Given the description of an element on the screen output the (x, y) to click on. 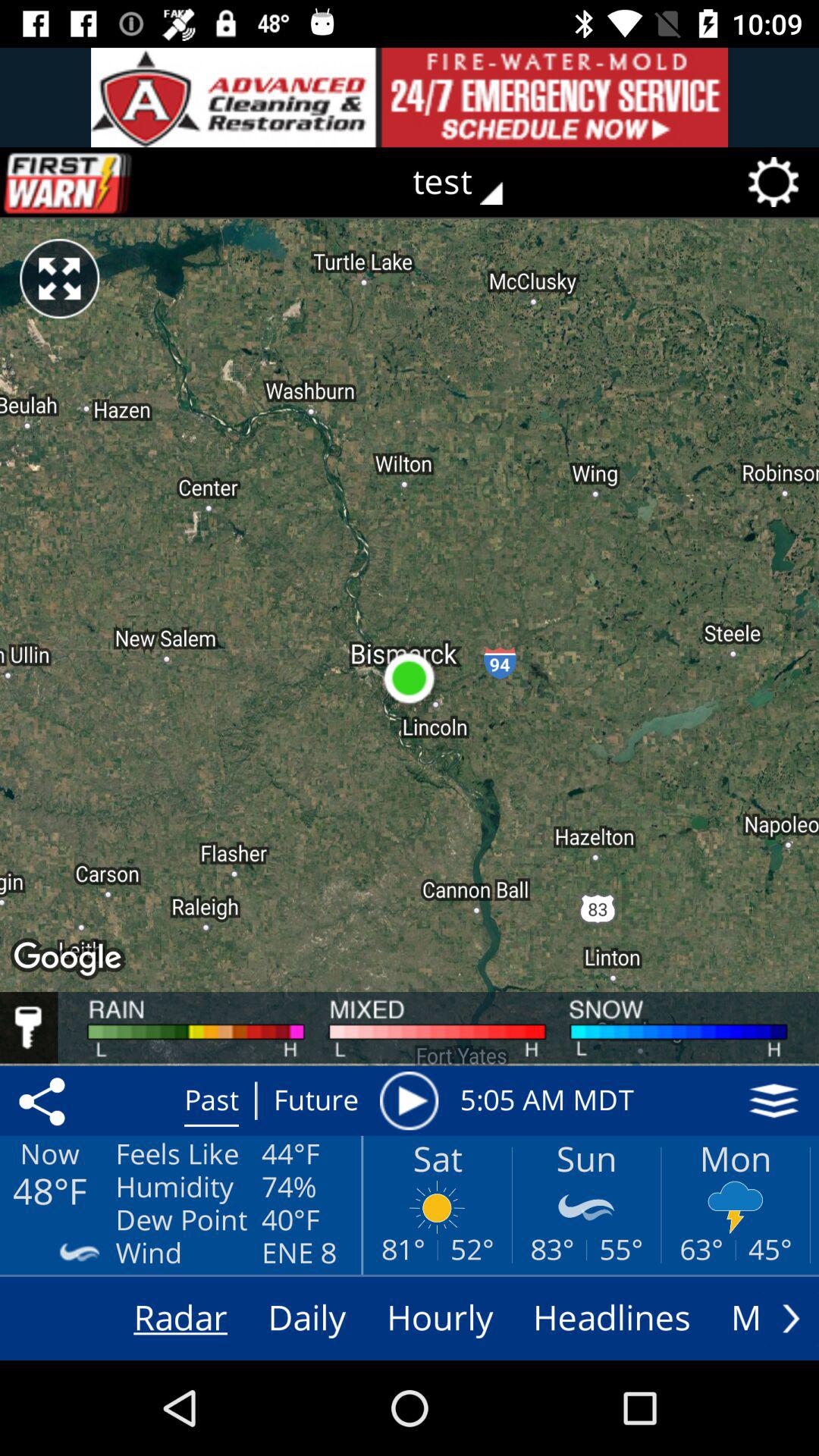
launch icon above the sat item (409, 1100)
